Given the description of an element on the screen output the (x, y) to click on. 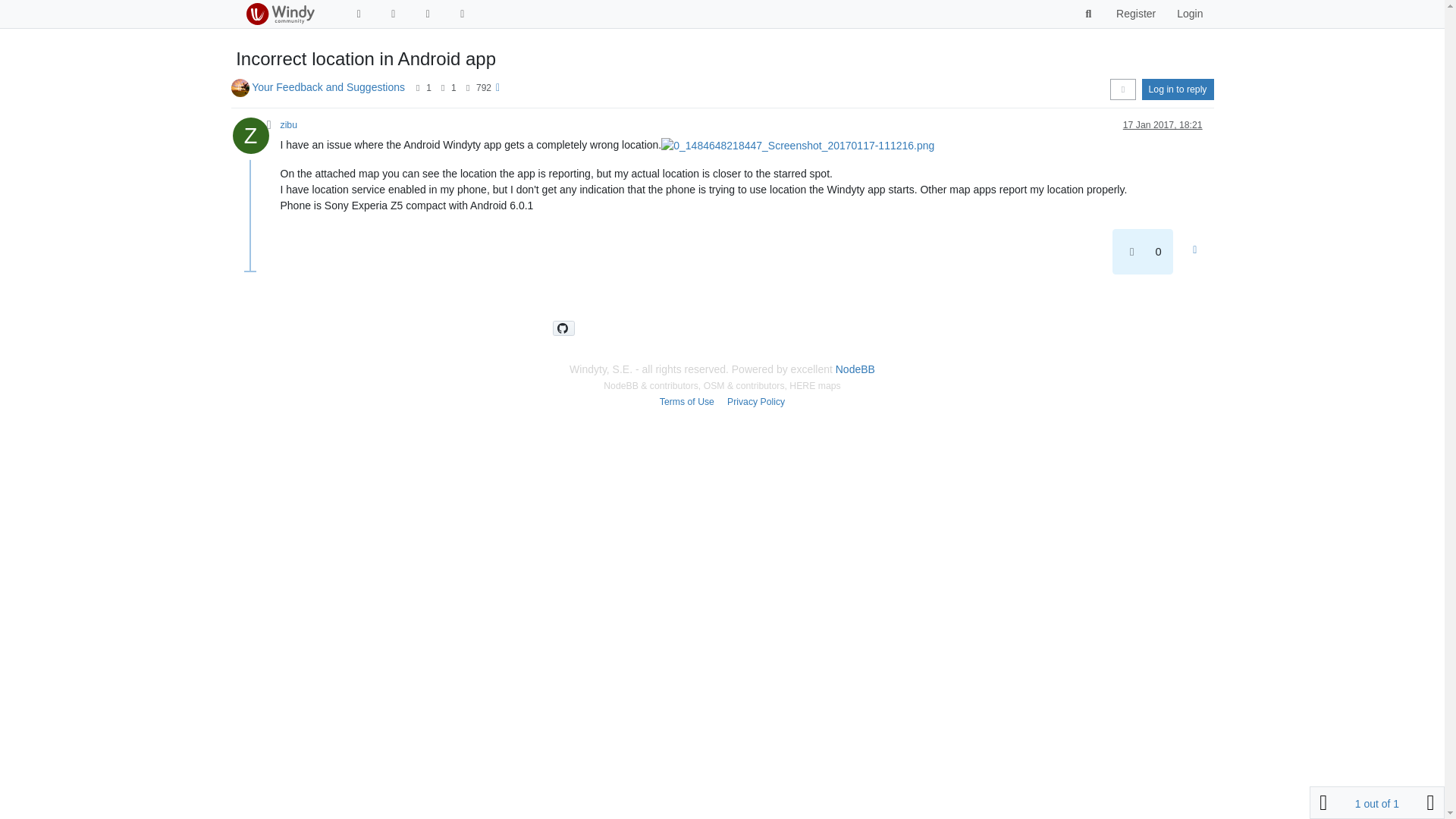
Log in to reply (1177, 88)
Posters (417, 87)
Categories (392, 13)
Your Feedback and Suggestions (327, 87)
Search (1088, 14)
Posts (443, 87)
1 (428, 87)
Login (1189, 13)
Unread (357, 13)
Go to windy.com (462, 13)
Windy Community (279, 13)
